Given the description of an element on the screen output the (x, y) to click on. 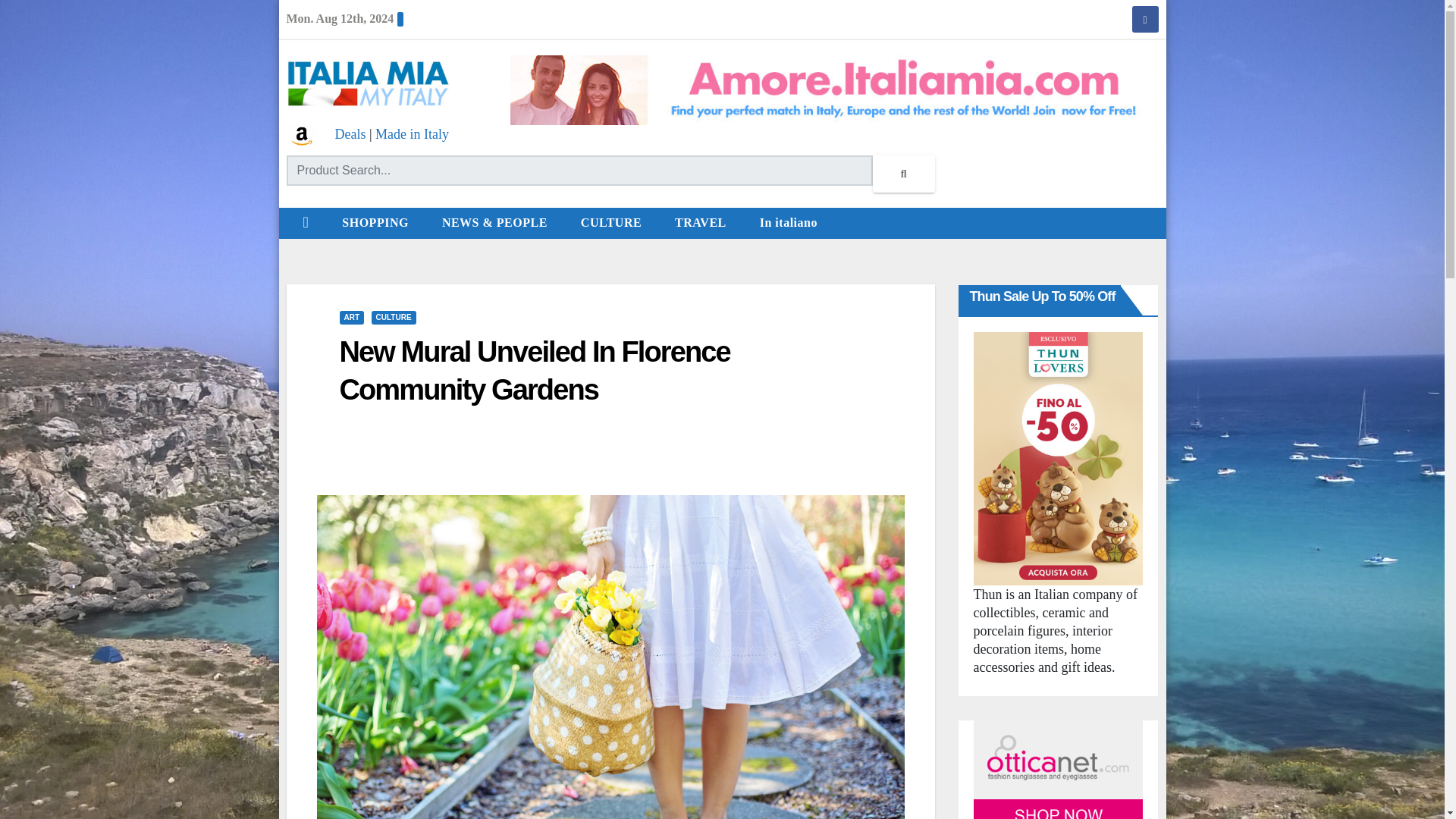
Made in Italy (411, 133)
CULTURE (611, 223)
SHOPPING (374, 223)
SHOPPING (374, 223)
Deals (350, 133)
Home (306, 223)
